Given the description of an element on the screen output the (x, y) to click on. 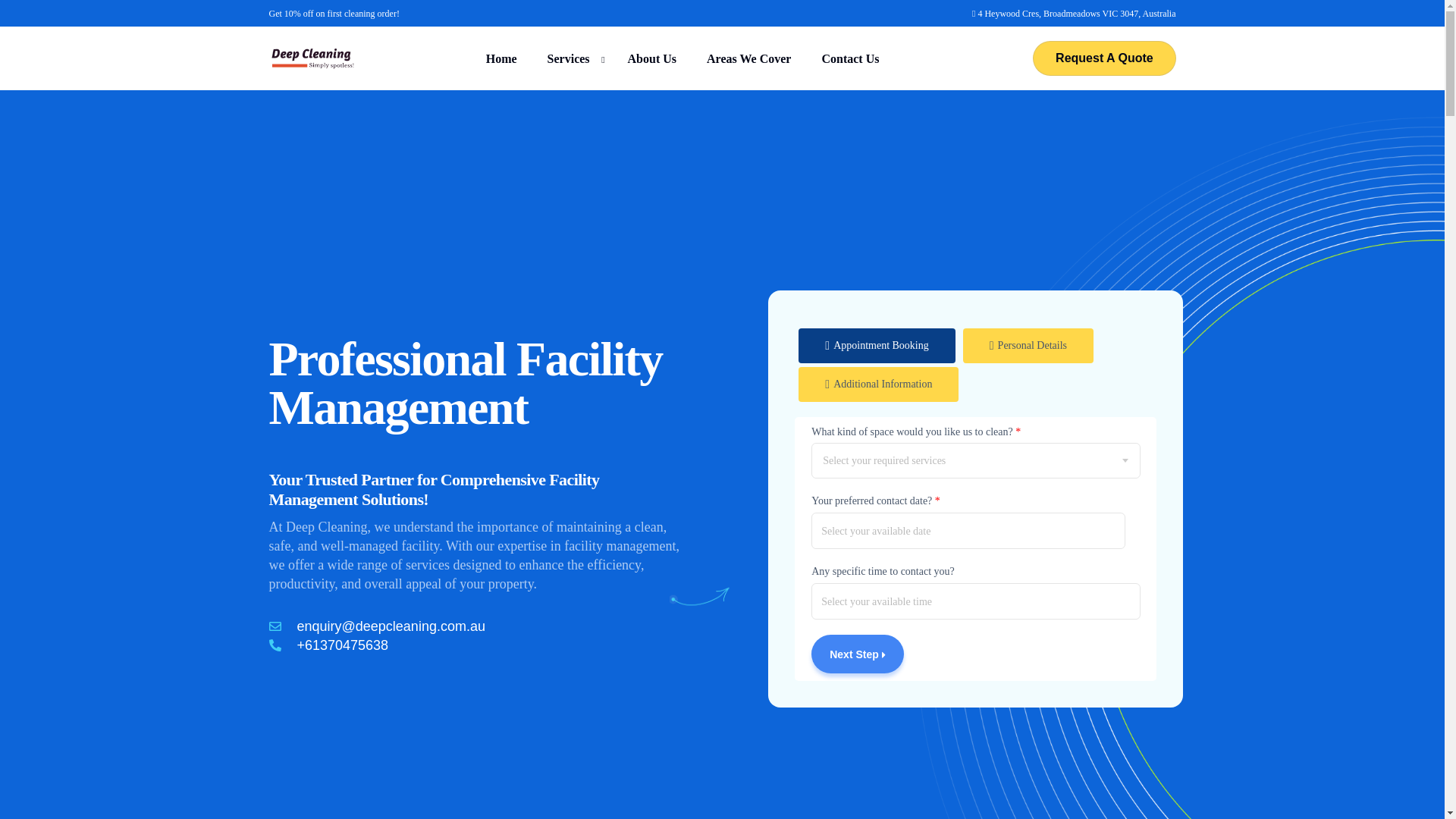
Request A Quote (1103, 58)
Areas We Cover (748, 58)
Contact Us (849, 58)
Next Step (856, 653)
Services (572, 58)
About Us (651, 58)
4 Heywood Cres, Broadmeadows VIC 3047, Australia (1075, 13)
Home (501, 58)
